Given the description of an element on the screen output the (x, y) to click on. 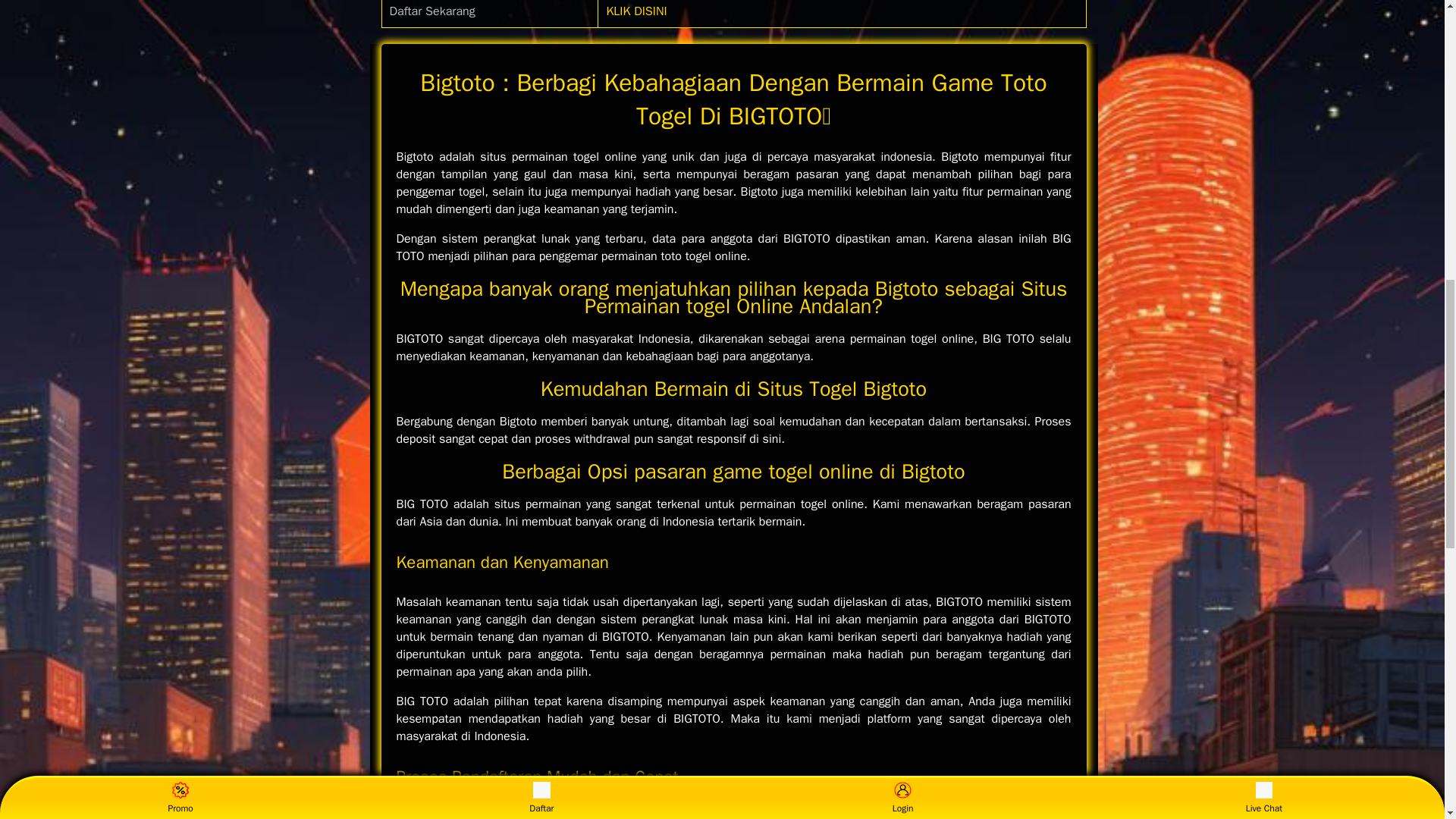
KLIK DISINI (635, 11)
